Given the description of an element on the screen output the (x, y) to click on. 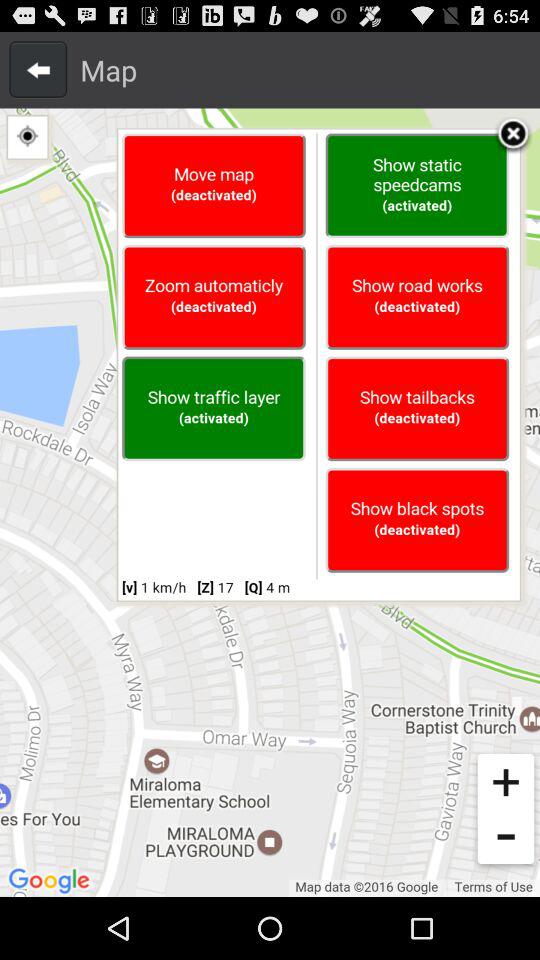
go back (38, 69)
